Given the description of an element on the screen output the (x, y) to click on. 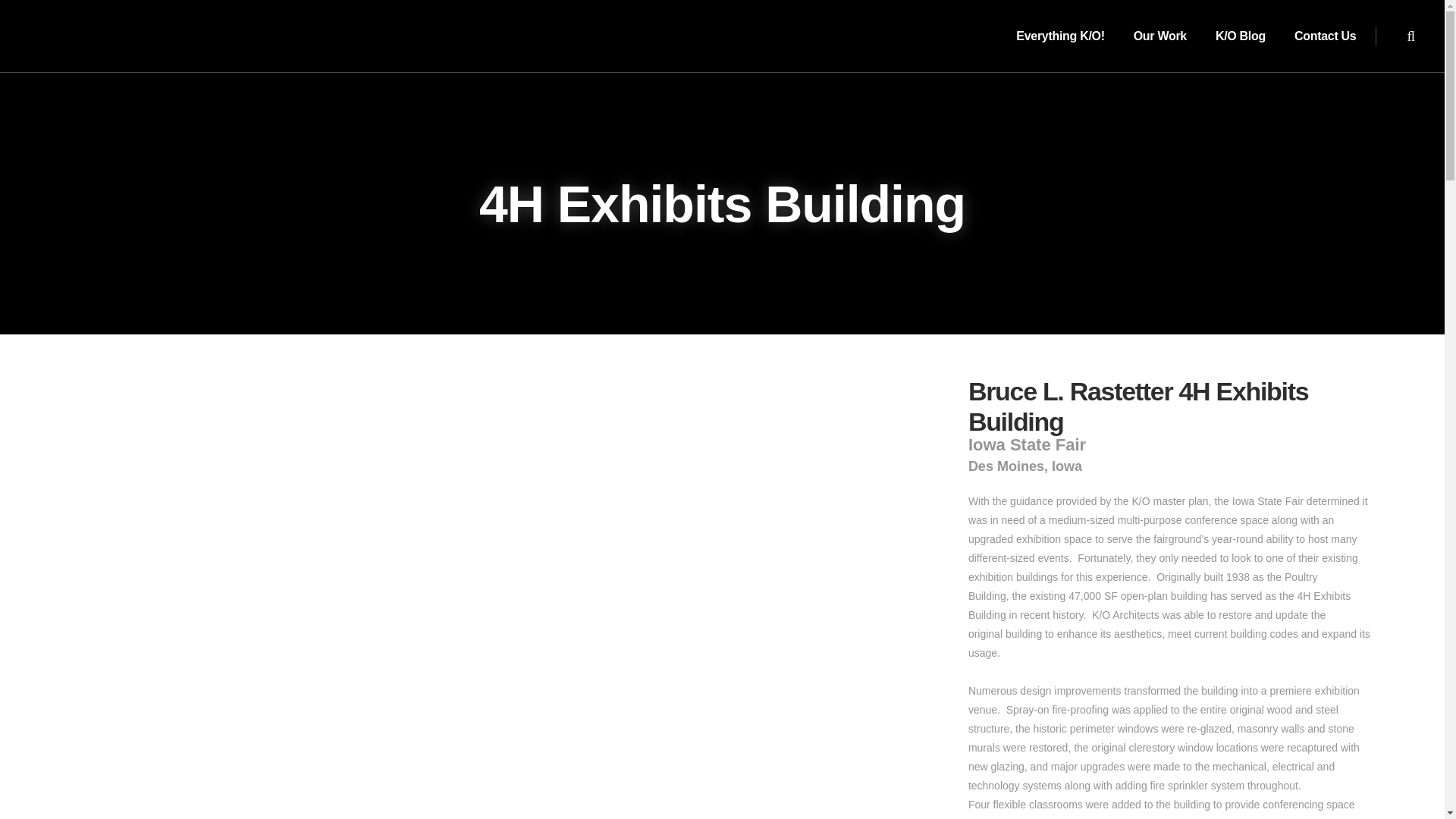
Our Work (1160, 36)
Contact Us (1324, 36)
